Given the description of an element on the screen output the (x, y) to click on. 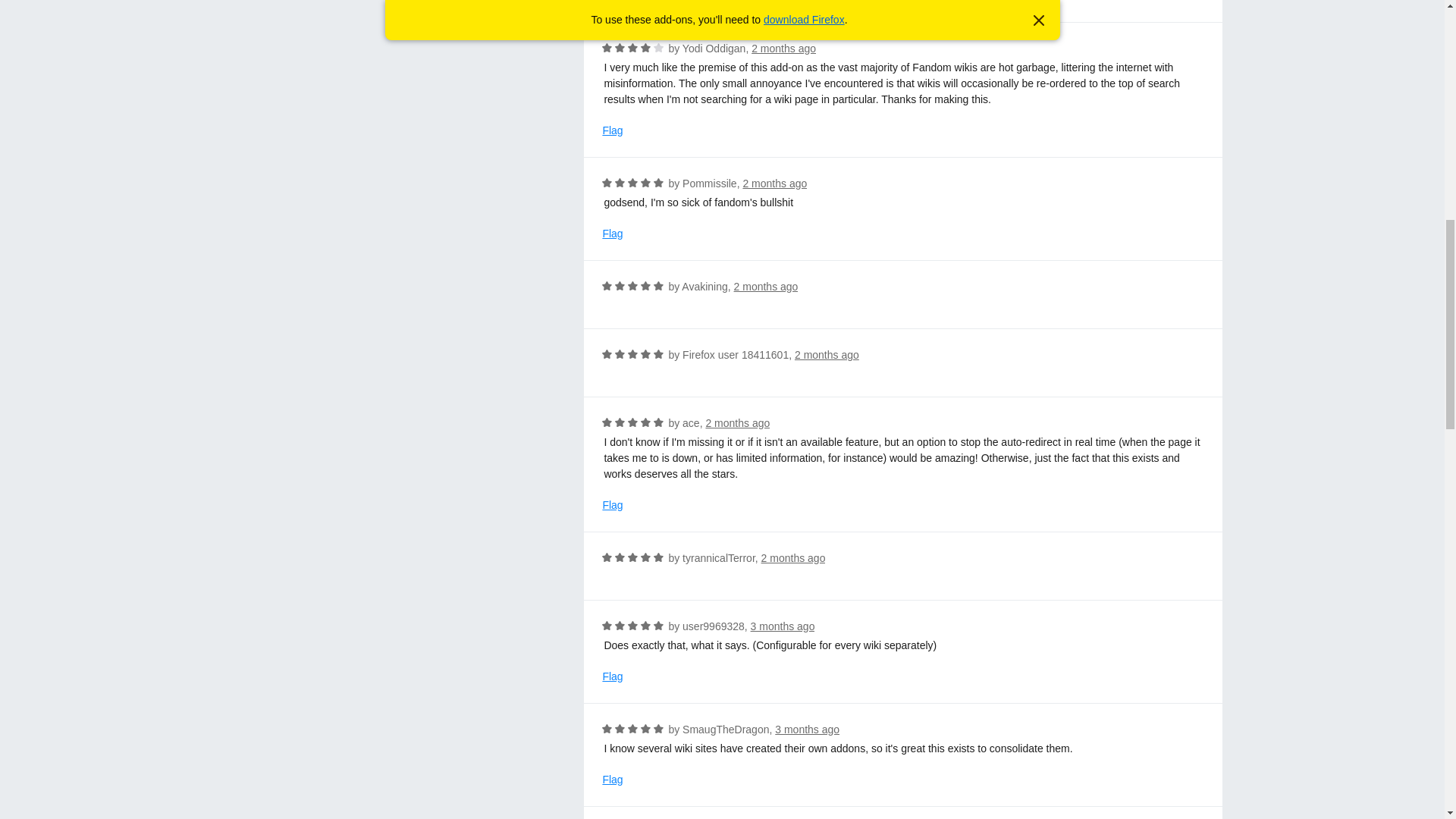
2 months ago (793, 558)
2 months ago (826, 354)
Flag (612, 130)
2 months ago (765, 286)
Flag (612, 505)
2 months ago (737, 422)
Flag (612, 676)
2 months ago (783, 48)
2 months ago (774, 183)
3 months ago (783, 625)
Flag (612, 233)
